Given the description of an element on the screen output the (x, y) to click on. 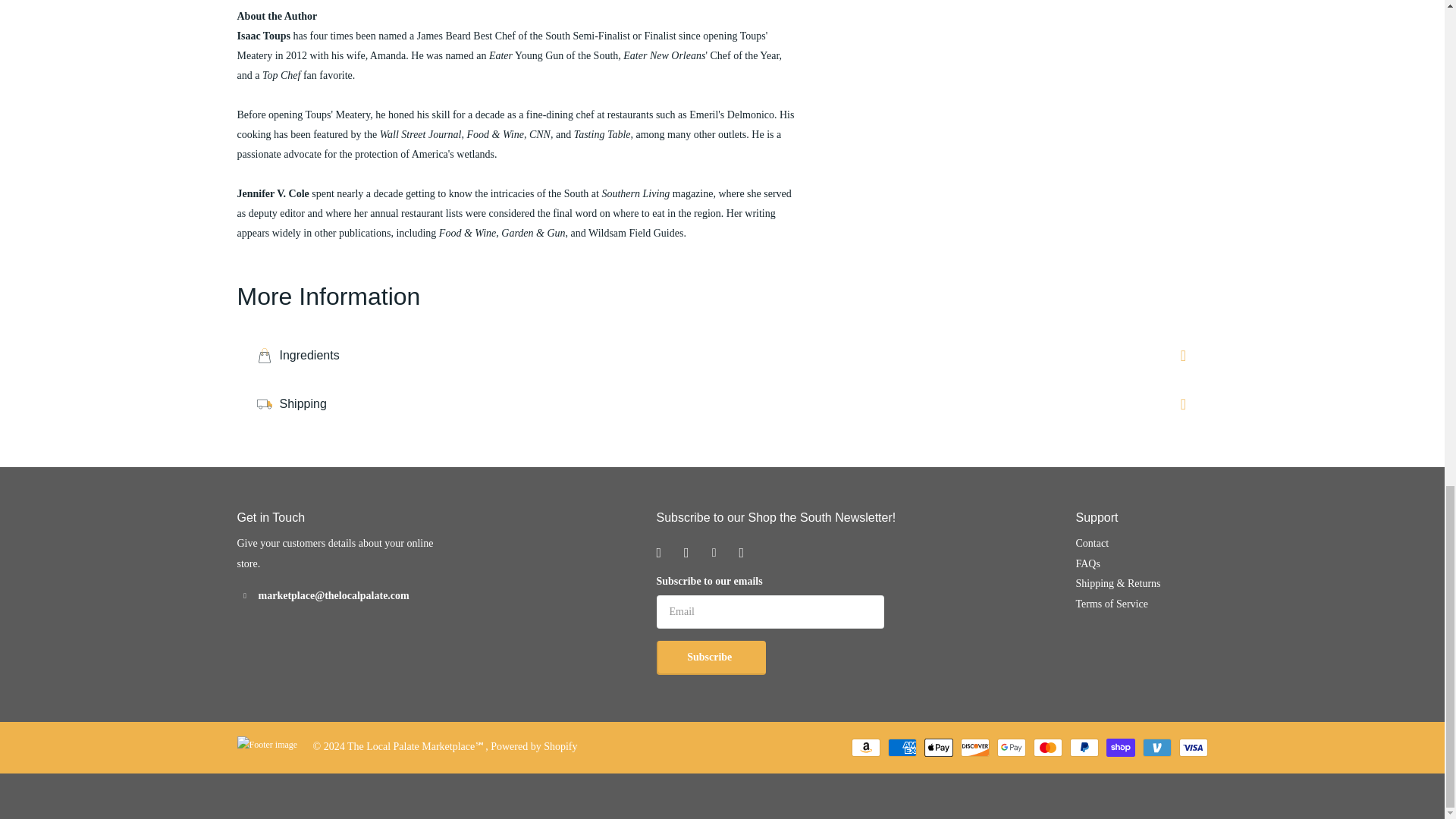
Venmo (1155, 747)
Shop Pay (1119, 747)
Apple Pay (937, 747)
FAQs (1087, 562)
Google Pay (1010, 747)
Amazon (864, 747)
Terms of Service (1111, 603)
Mastercard (1046, 747)
PayPal (1082, 747)
Discover (973, 747)
